Given the description of an element on the screen output the (x, y) to click on. 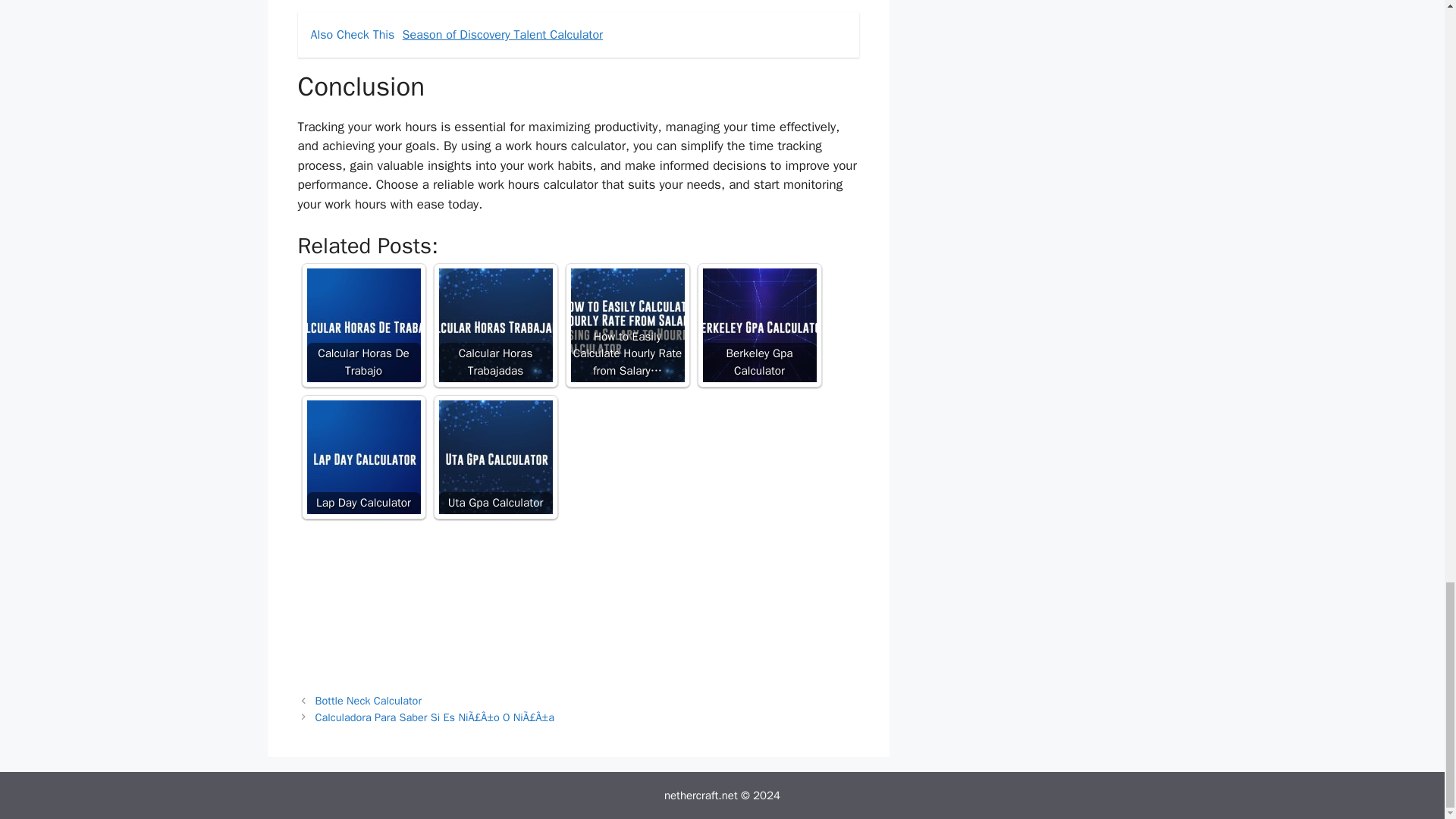
Lap Day Calculator (362, 457)
Uta Gpa Calculator (494, 457)
Calcular Horas De Trabajo (362, 325)
Calcular Horas Trabajadas (494, 325)
Bottle Neck Calculator (368, 700)
Also Check This  Season of Discovery Talent Calculator (578, 34)
Calcular Horas Trabajadas (494, 325)
Berkeley Gpa Calculator (758, 325)
Calcular Horas De Trabajo (362, 325)
Berkeley Gpa Calculator (758, 325)
Uta Gpa Calculator (494, 457)
Lap Day Calculator (362, 457)
